Given the description of an element on the screen output the (x, y) to click on. 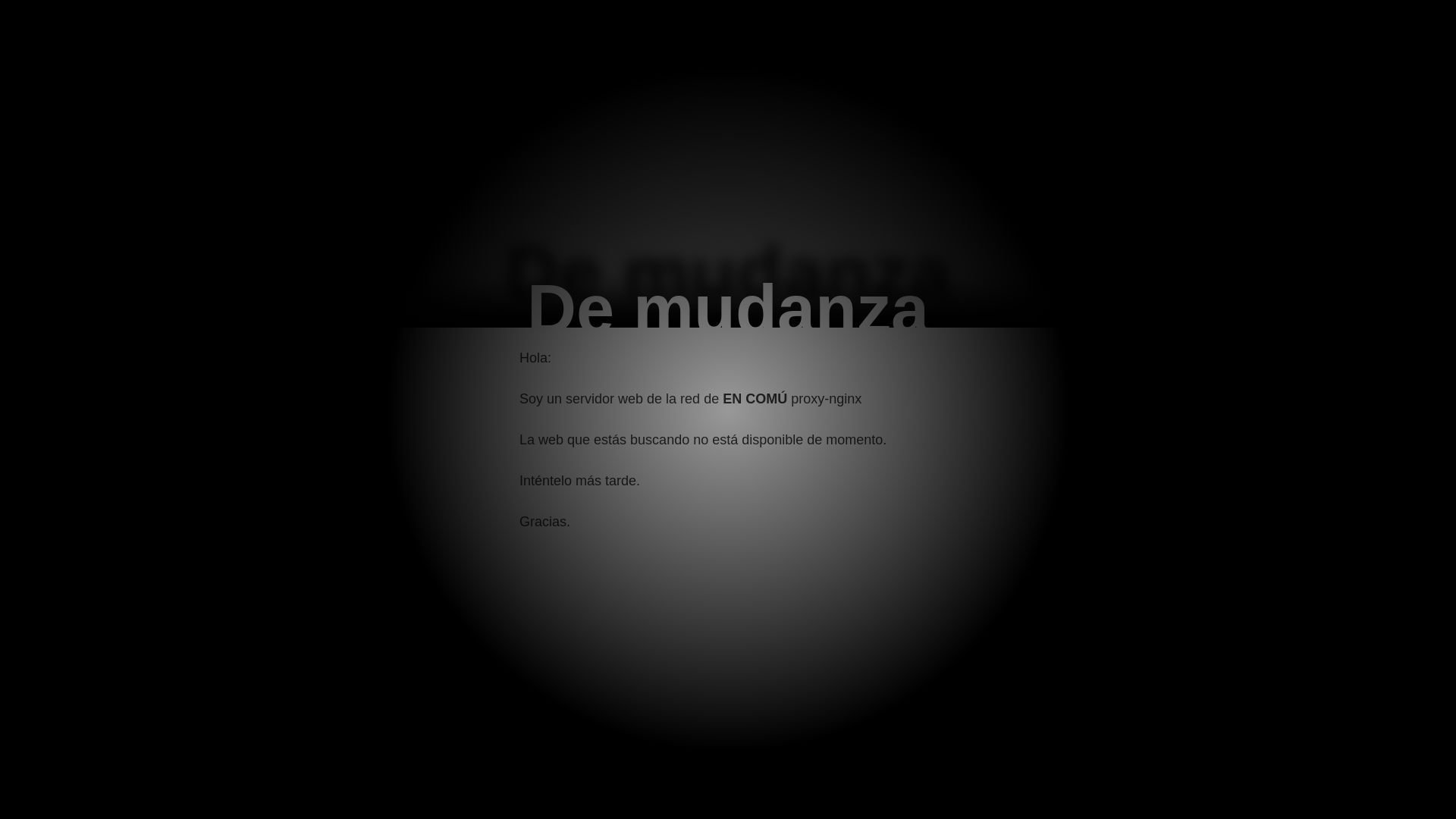
De mudanza Element type: text (727, 309)
